Given the description of an element on the screen output the (x, y) to click on. 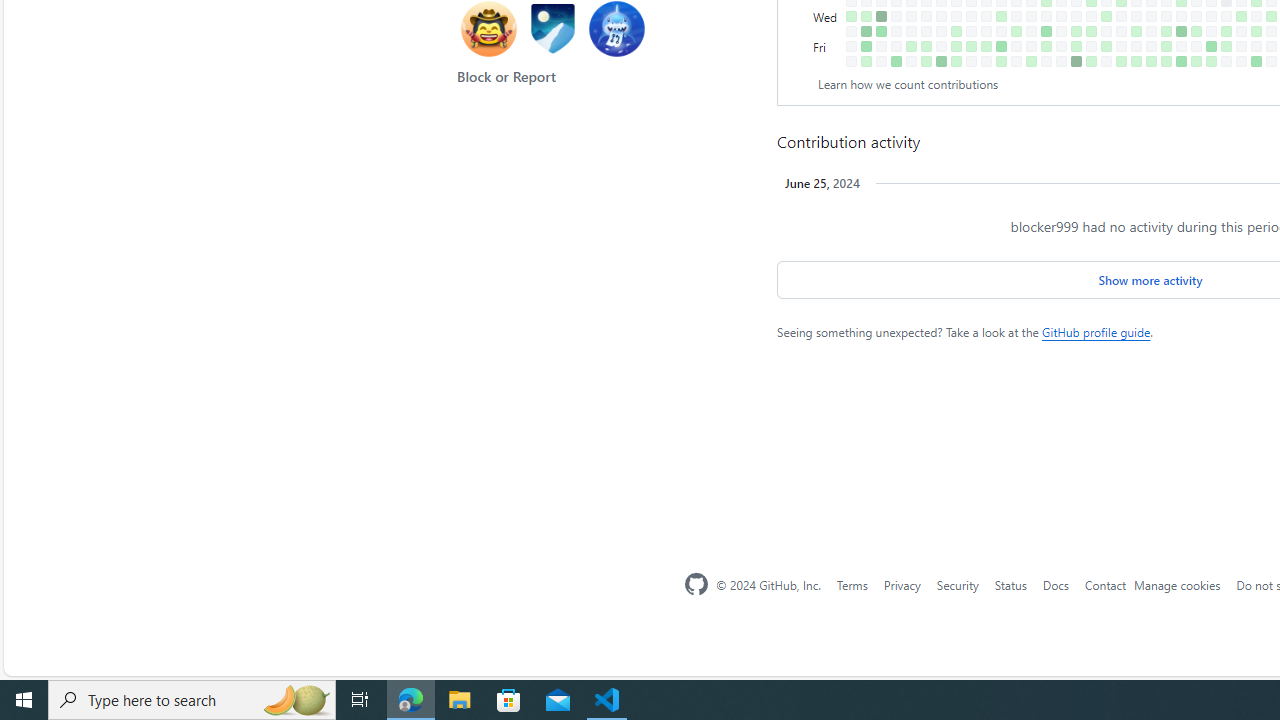
Terms (851, 584)
4 contributions on July 13th. (1256, 61)
No contributions on March 28th. (1031, 30)
No contributions on May 22nd. (1151, 16)
No contributions on May 29th. (1166, 16)
No contributions on May 24th. (1151, 46)
No contributions on March 20th. (1016, 16)
No contributions on February 14th. (941, 16)
No contributions on January 4th. (851, 30)
No contributions on July 12th. (1256, 46)
3 contributions on March 16th. (1001, 61)
1 contribution on February 2nd. (911, 46)
No contributions on January 31st. (911, 16)
1 contribution on February 22nd. (956, 30)
